Given the description of an element on the screen output the (x, y) to click on. 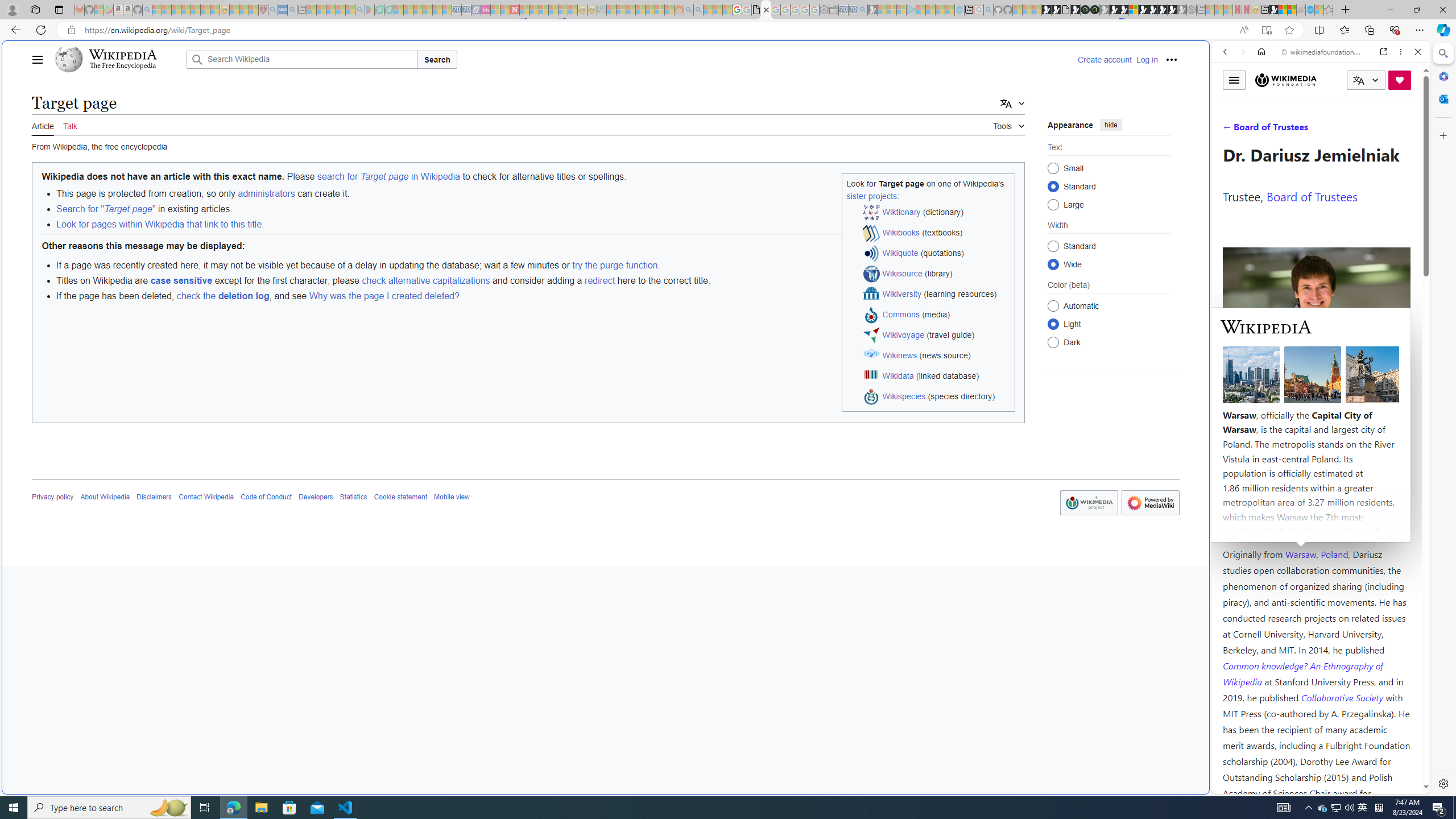
Wide (1053, 263)
About Wikipedia (104, 497)
Search the web (1326, 78)
Jobs - lastminute.com Investor Portal - Sleeping (485, 9)
Search Filter, WEB (1230, 129)
Forward (1242, 51)
IMAGES (1262, 130)
Wikibooks (901, 232)
Warsaw (1300, 554)
